Given the description of an element on the screen output the (x, y) to click on. 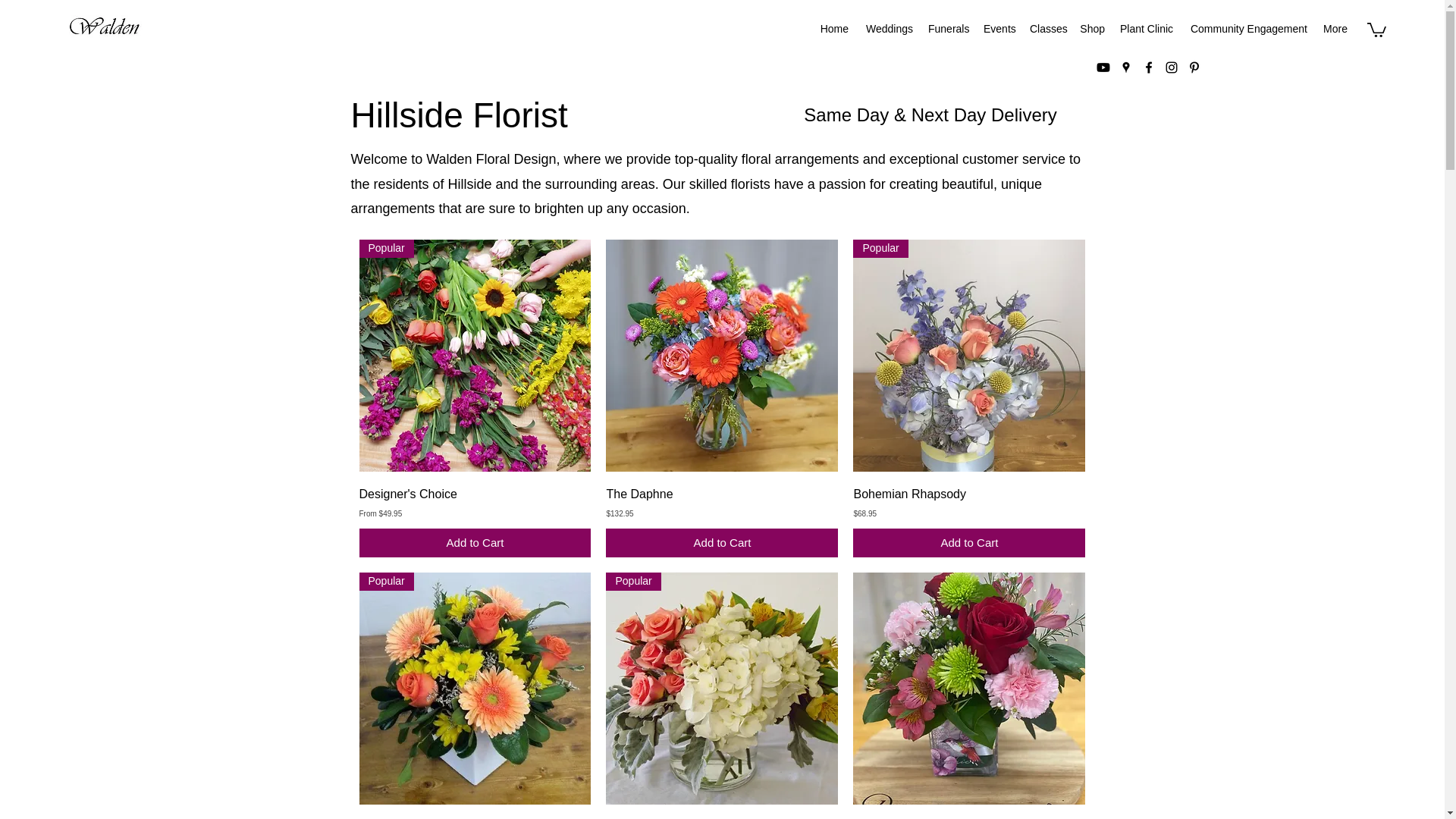
Funerals (947, 28)
Plant Clinic (1145, 28)
Community Engagement (1246, 28)
Home (834, 28)
Shop (1091, 28)
Weddings (888, 28)
Classes (1046, 28)
Add to Cart (475, 542)
Popular (475, 355)
Events (998, 28)
